Given the description of an element on the screen output the (x, y) to click on. 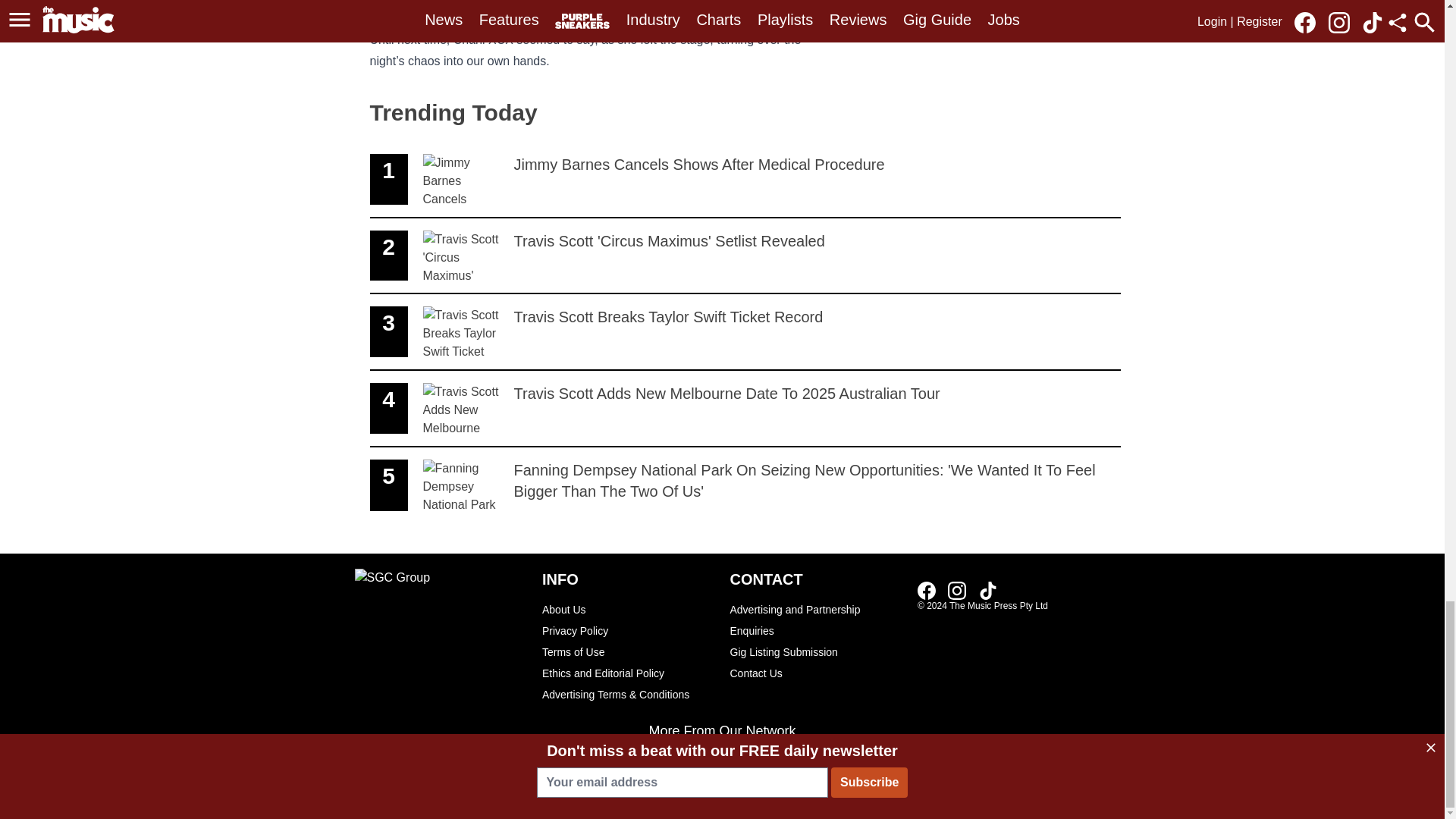
About Us (627, 608)
Link to our Facebook (930, 589)
Ethics and Editorial Policy (627, 672)
Contact Us (815, 672)
Link to our Facebook (926, 590)
Privacy Policy (627, 630)
Link to our TikTok (987, 590)
Advertising and Partnership Enquiries (745, 256)
Terms of Use (815, 619)
Gig Listing Submission (745, 332)
